Given the description of an element on the screen output the (x, y) to click on. 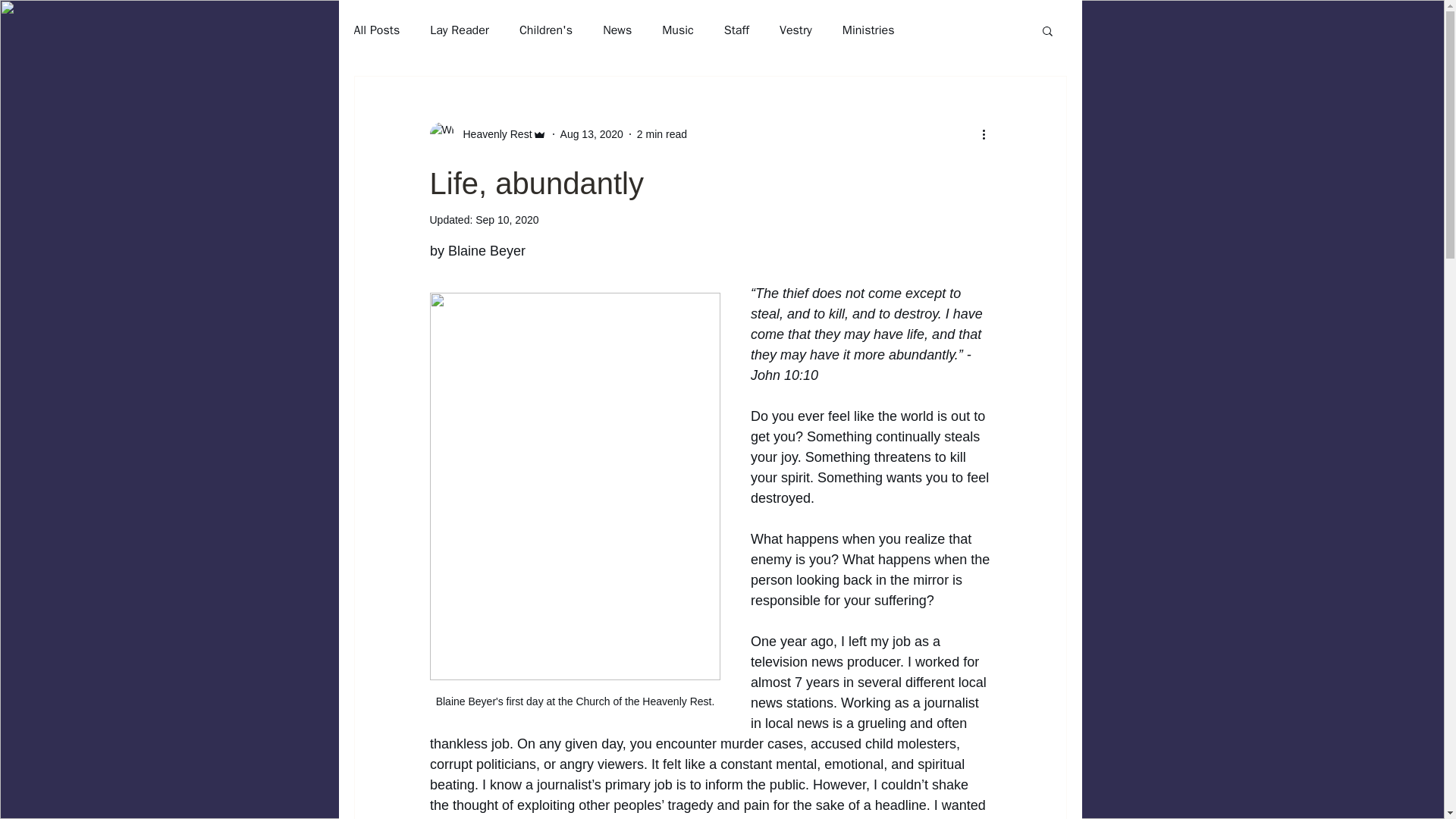
Heavenly Rest (487, 134)
Lay Reader (459, 30)
Vestry (795, 30)
2 min read (662, 133)
Staff (736, 30)
Aug 13, 2020 (591, 133)
Home (443, 42)
News (616, 30)
Give (889, 42)
All Posts (375, 30)
